Given the description of an element on the screen output the (x, y) to click on. 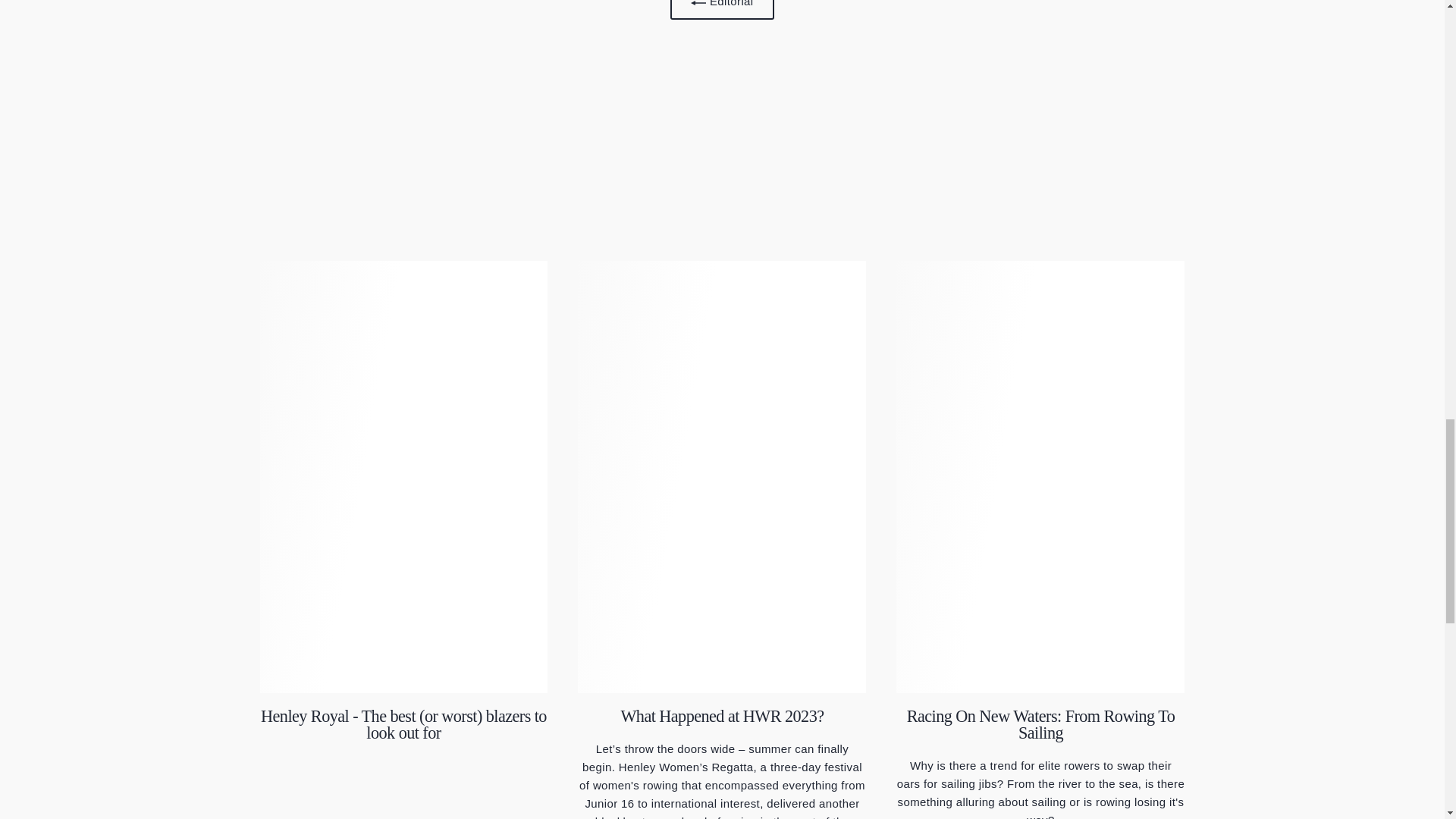
icon-left-arrow (698, 5)
